Given the description of an element on the screen output the (x, y) to click on. 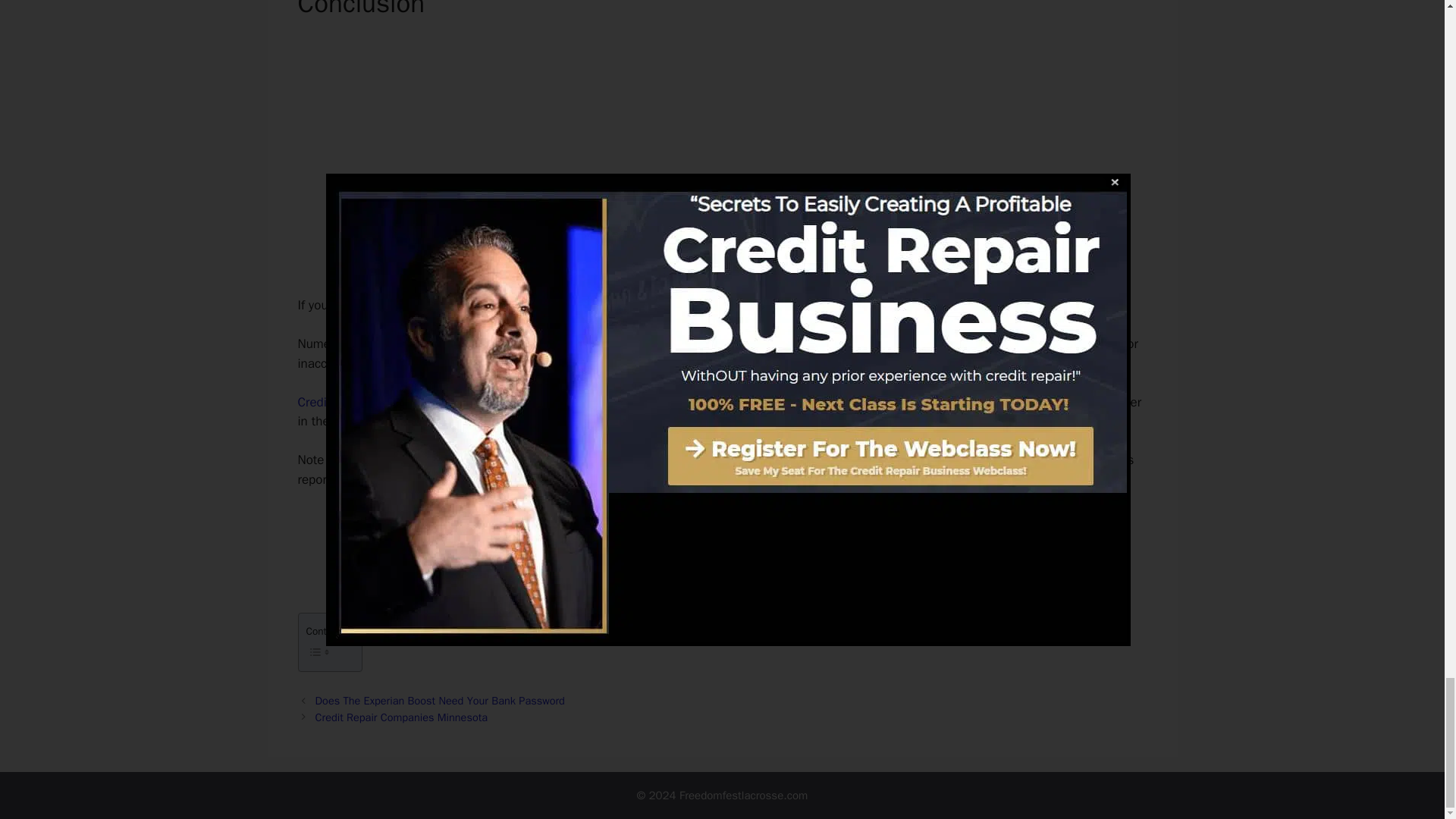
Go Here To Find Out More (722, 531)
Credit scores repair work (367, 401)
Does The Experian Boost Need Your Bank Password (439, 700)
Credit Repair Companies Minnesota (401, 716)
credit history repair service companies (467, 343)
credit repair system (660, 343)
